Given the description of an element on the screen output the (x, y) to click on. 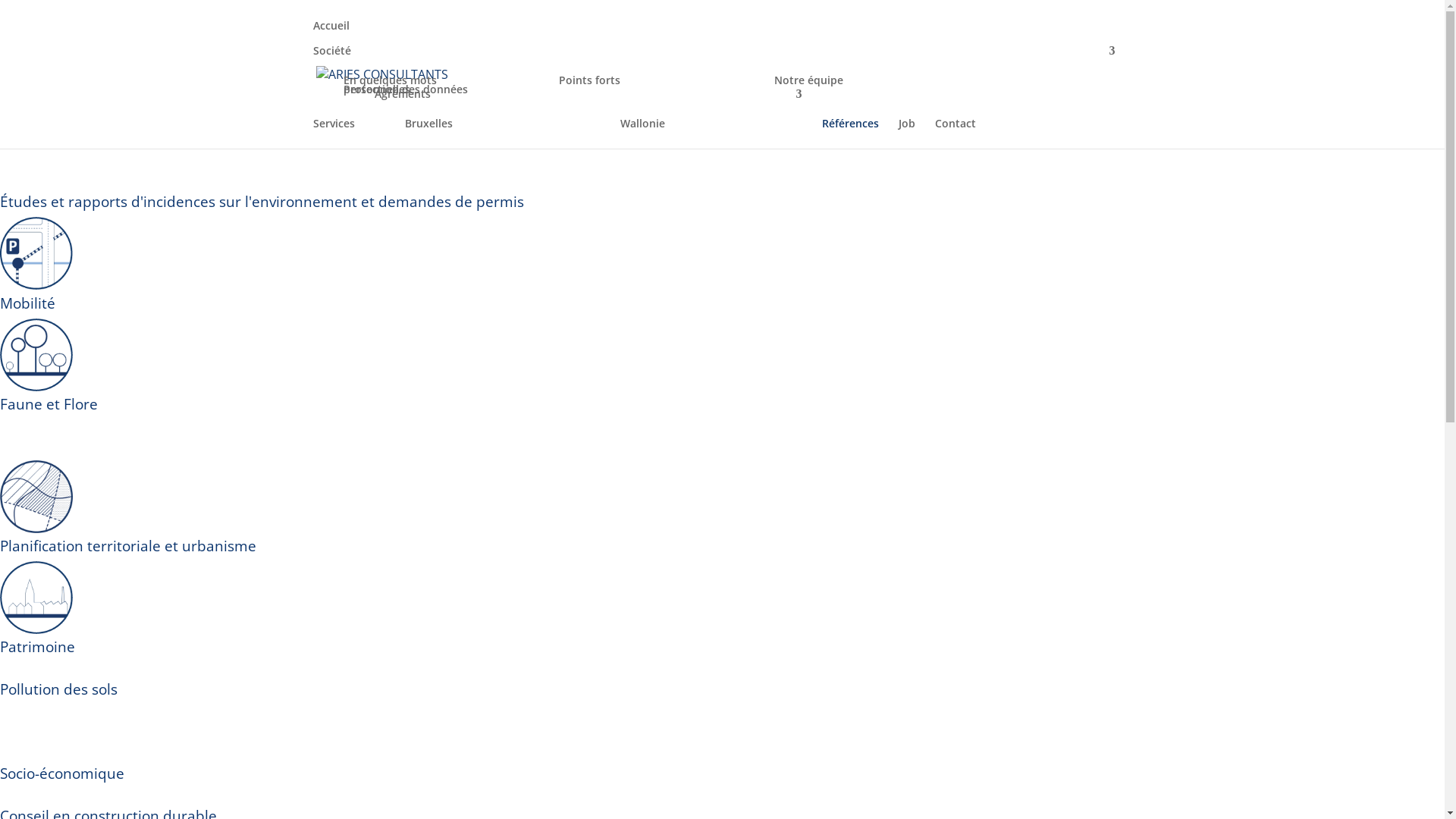
Services Element type: text (333, 135)
Patrimoine Element type: text (37, 646)
Wallonie Element type: text (696, 123)
Bruxelles Element type: text (480, 123)
Pollution des sols Element type: text (58, 689)
Points forts Element type: text (633, 79)
Accueil Element type: text (330, 37)
Job Element type: text (905, 135)
En quelques mots Element type: text (418, 79)
Faune et Flore Element type: text (48, 404)
Contact Element type: text (954, 135)
Planification territoriale et urbanisme Element type: text (128, 545)
